Given the description of an element on the screen output the (x, y) to click on. 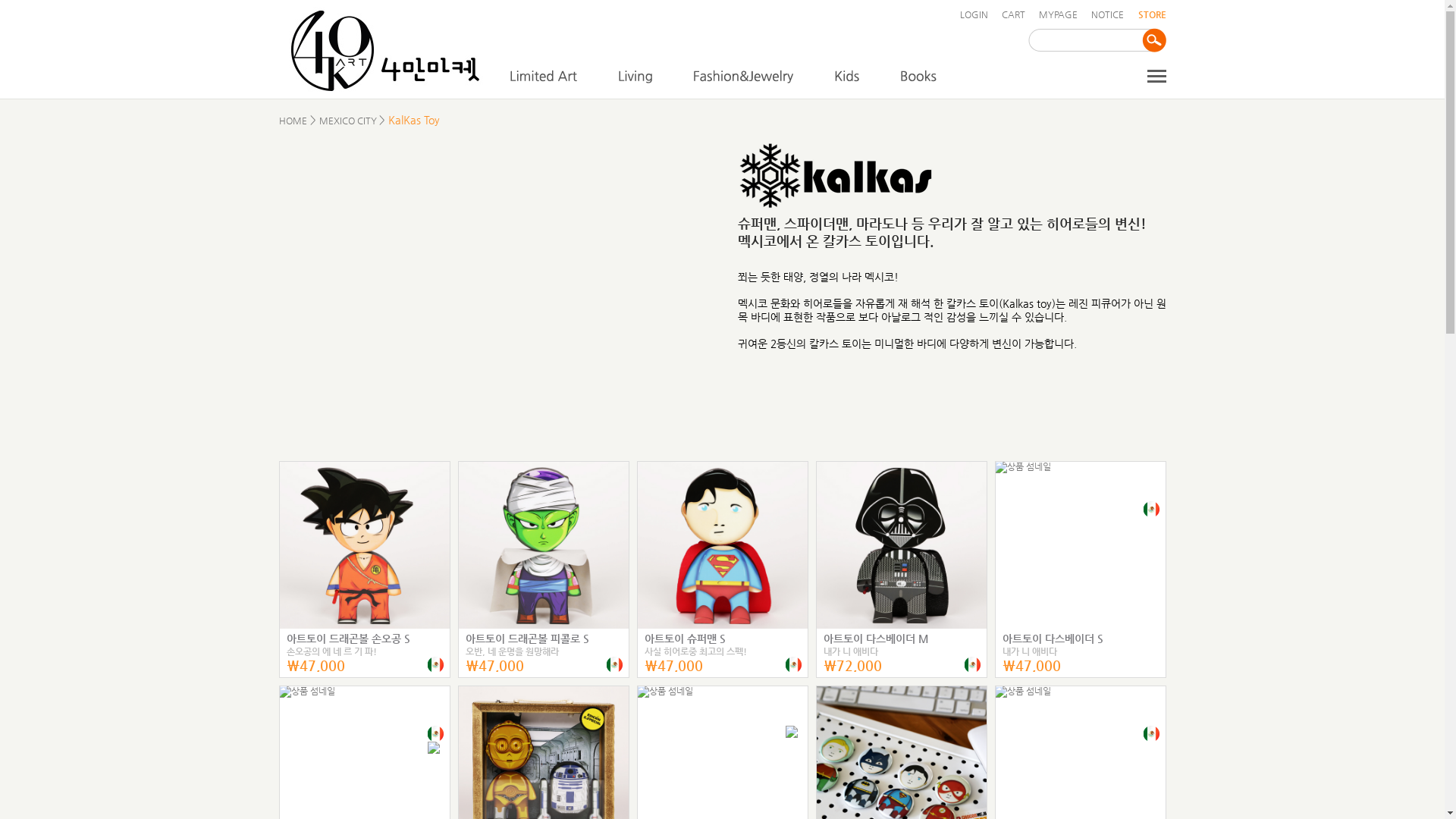
MEXICO CITY Element type: text (348, 120)
HOME Element type: text (293, 120)
STORE Element type: text (1151, 14)
Next Element type: text (707, 285)
LOGIN Element type: text (974, 14)
limited art Element type: hover (542, 76)
CART Element type: text (1013, 14)
MYPAGE Element type: text (1057, 14)
NOTICE Element type: text (1107, 14)
Previous Element type: text (293, 285)
